Given the description of an element on the screen output the (x, y) to click on. 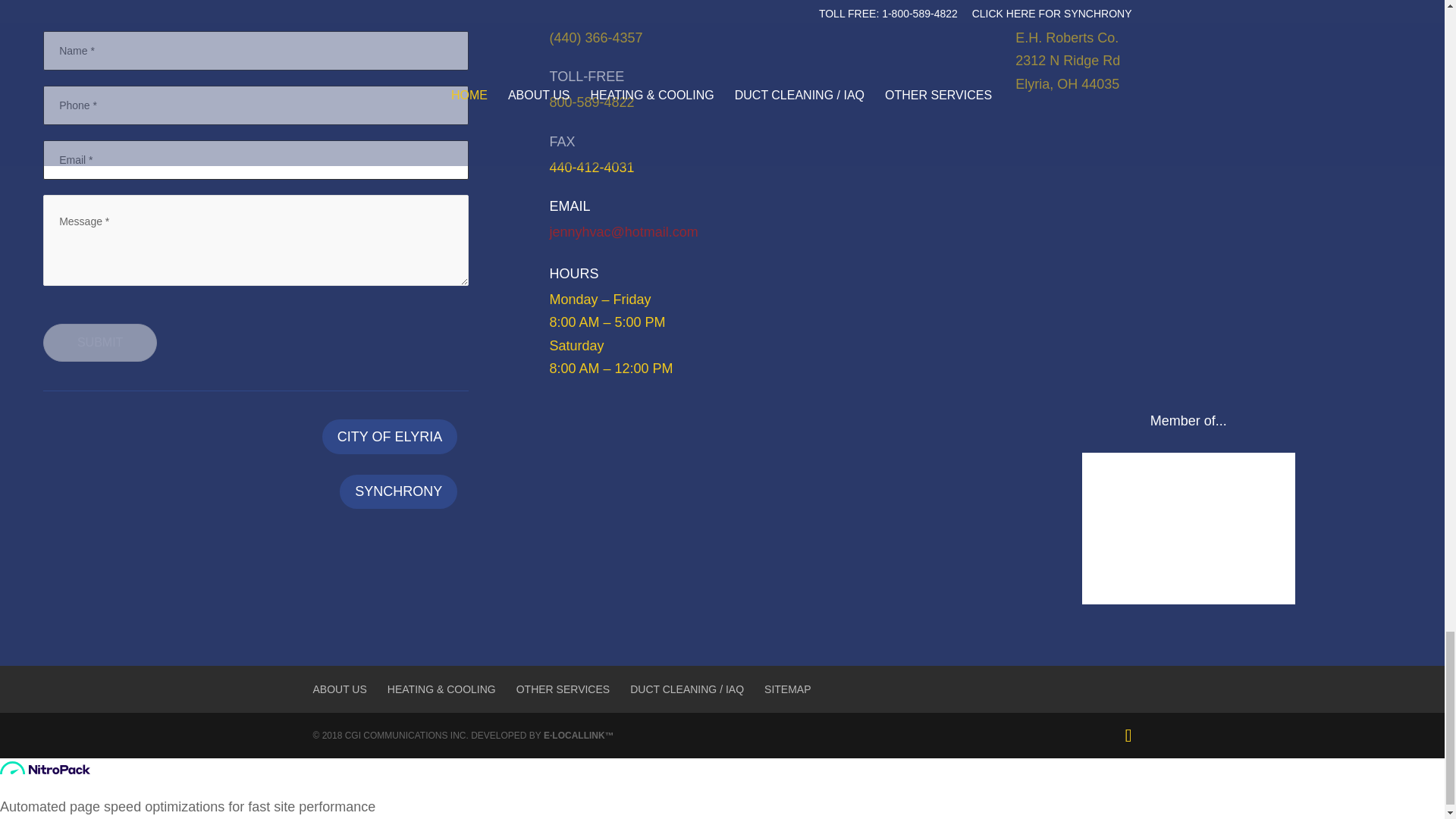
CITY OF ELYRIA (389, 436)
800-589-4822 (590, 102)
Lorain County Chamber of Commerce Logo (1187, 528)
TOLL-FREE (586, 76)
PHONE (572, 11)
SITEMAP (787, 689)
EMAIL (568, 206)
SYNCHRONY (398, 491)
ABOUT US (339, 689)
SUBMIT (100, 342)
OTHER SERVICES (563, 689)
